Given the description of an element on the screen output the (x, y) to click on. 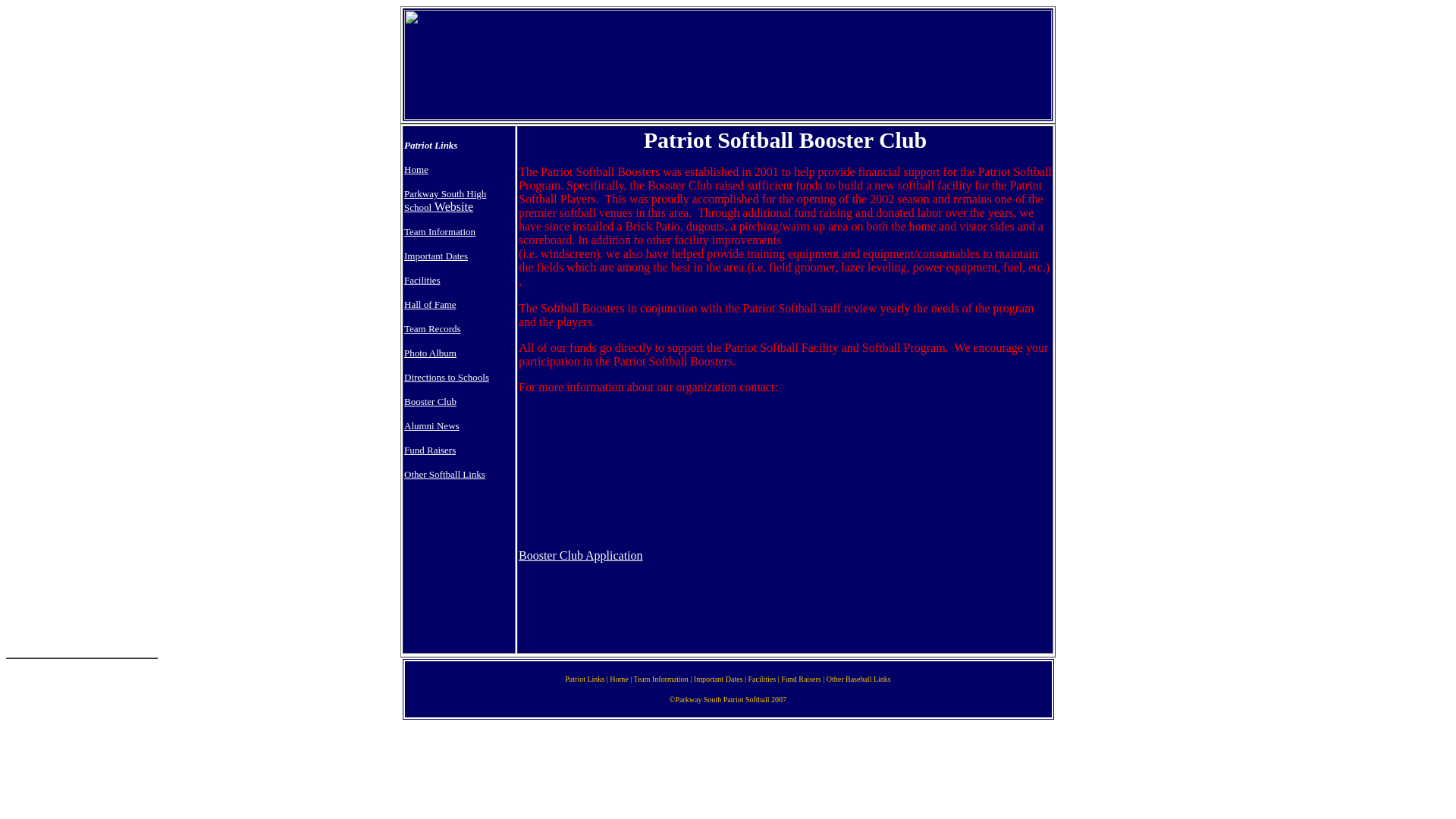
Directions to Schools (446, 377)
Website (451, 205)
Home (416, 169)
Team Information (440, 231)
Team Records (432, 328)
Booster Club (430, 401)
Hall of Fame (430, 304)
Important Dates (435, 255)
Photo Album (430, 352)
Parkway South High School (445, 200)
Facilities (422, 279)
Fund Raisers (429, 449)
Booster Club Application (580, 554)
Alumni News (432, 425)
Other Softball Links (444, 473)
